Given the description of an element on the screen output the (x, y) to click on. 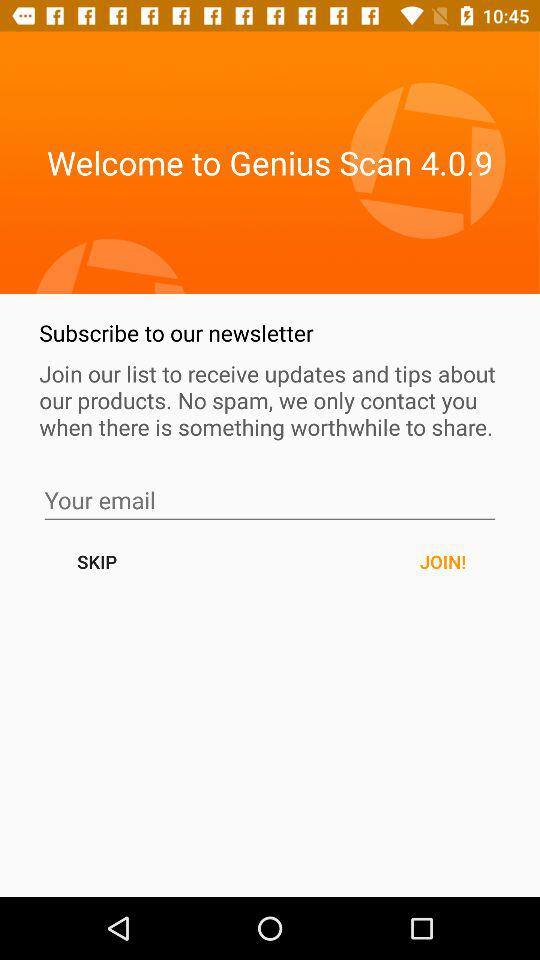
select the button next to join! (96, 561)
